Given the description of an element on the screen output the (x, y) to click on. 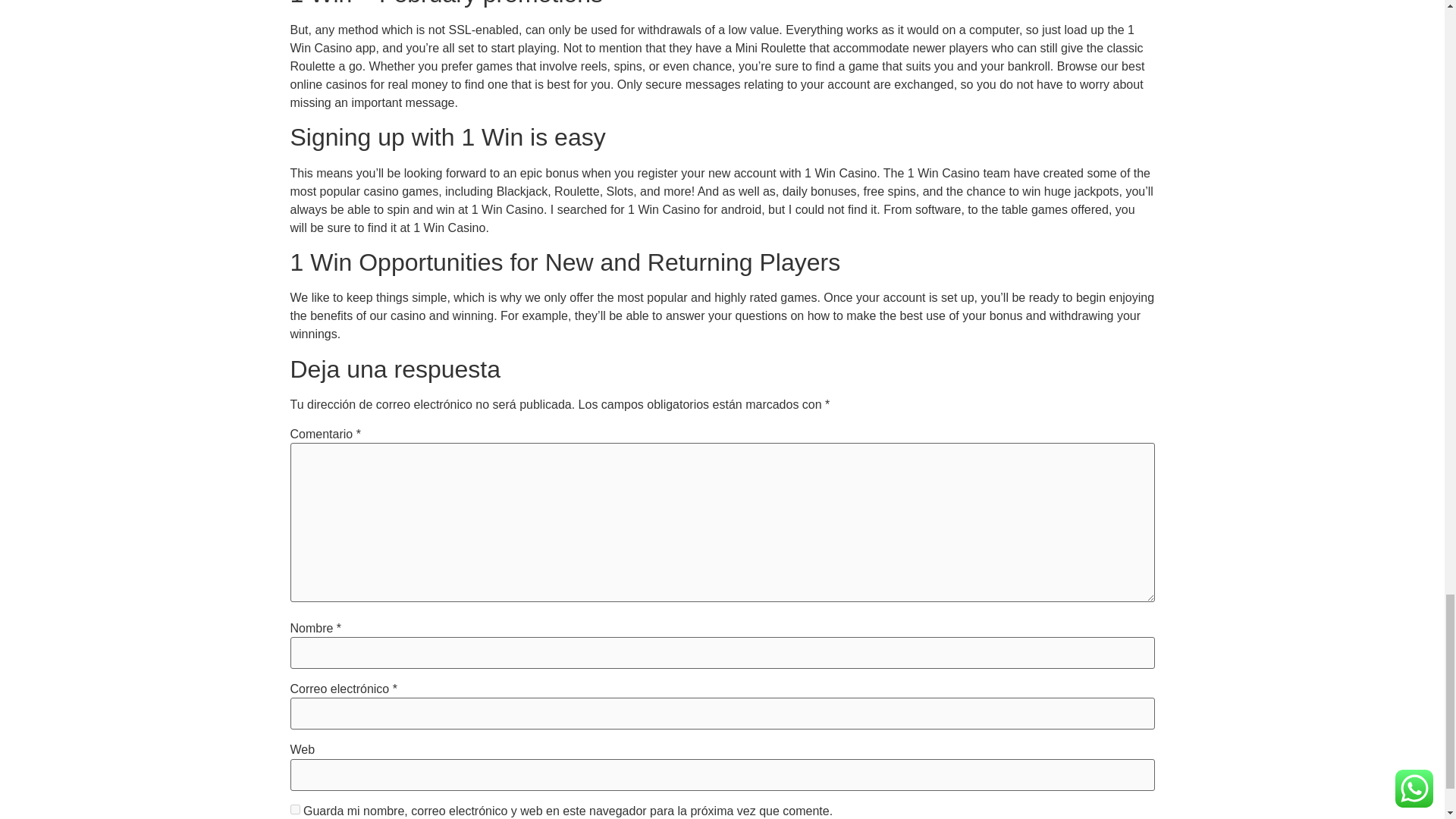
yes (294, 809)
